Given the description of an element on the screen output the (x, y) to click on. 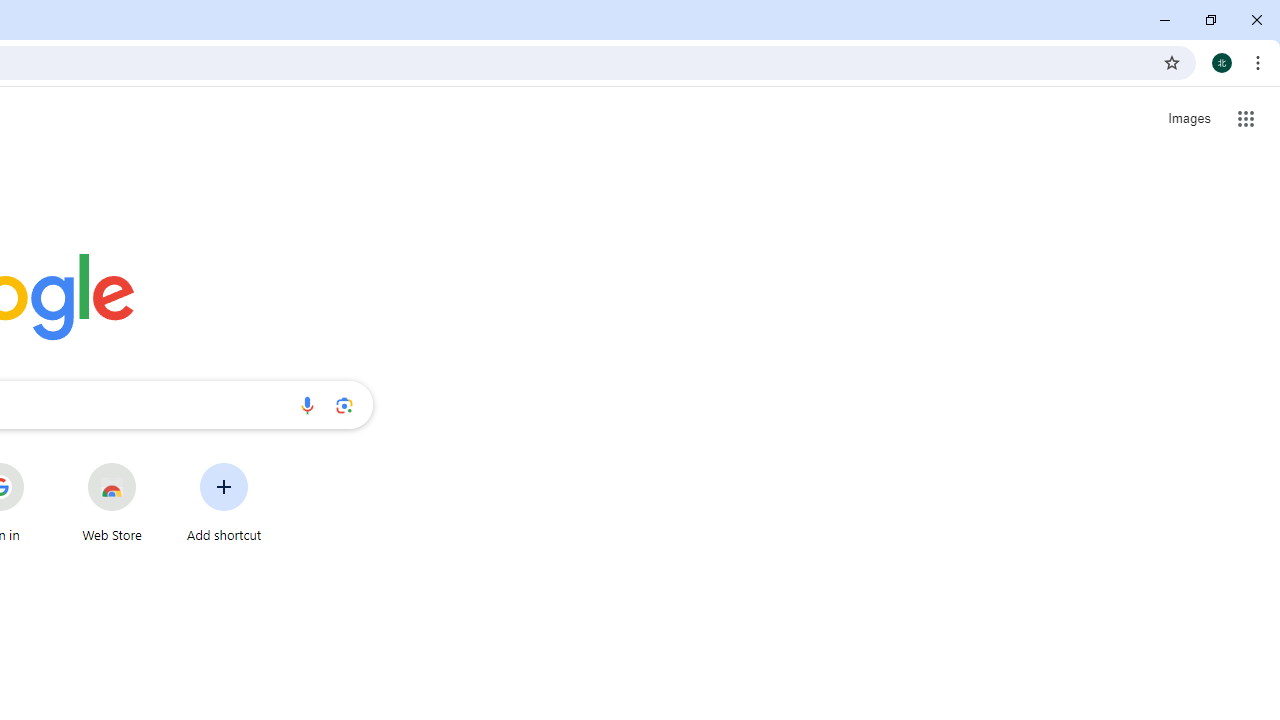
More actions for Sign in shortcut (39, 464)
Web Store (111, 502)
Add shortcut (223, 502)
More actions for Web Store shortcut (152, 464)
